Given the description of an element on the screen output the (x, y) to click on. 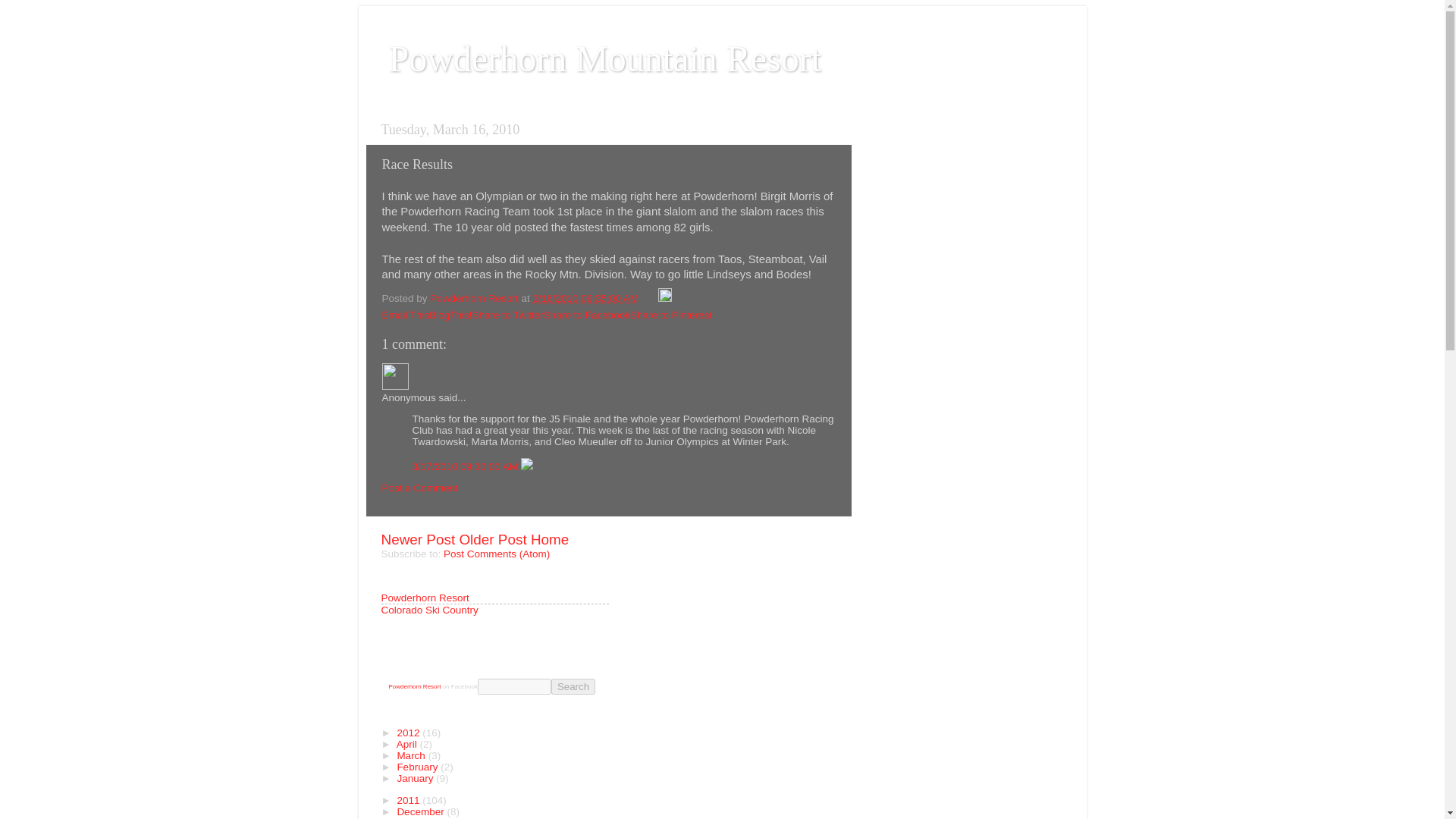
BlogThis! (450, 315)
Search (573, 686)
Newer Post (417, 539)
Email Post (650, 297)
March (412, 755)
Share to Twitter (507, 315)
Edit Post (664, 297)
Email This (405, 315)
2011 (409, 799)
Email This (405, 315)
Powderhorn Resort (475, 297)
Anonymous (395, 376)
Share to Facebook (586, 315)
Post a Comment (419, 487)
author profile (475, 297)
